Given the description of an element on the screen output the (x, y) to click on. 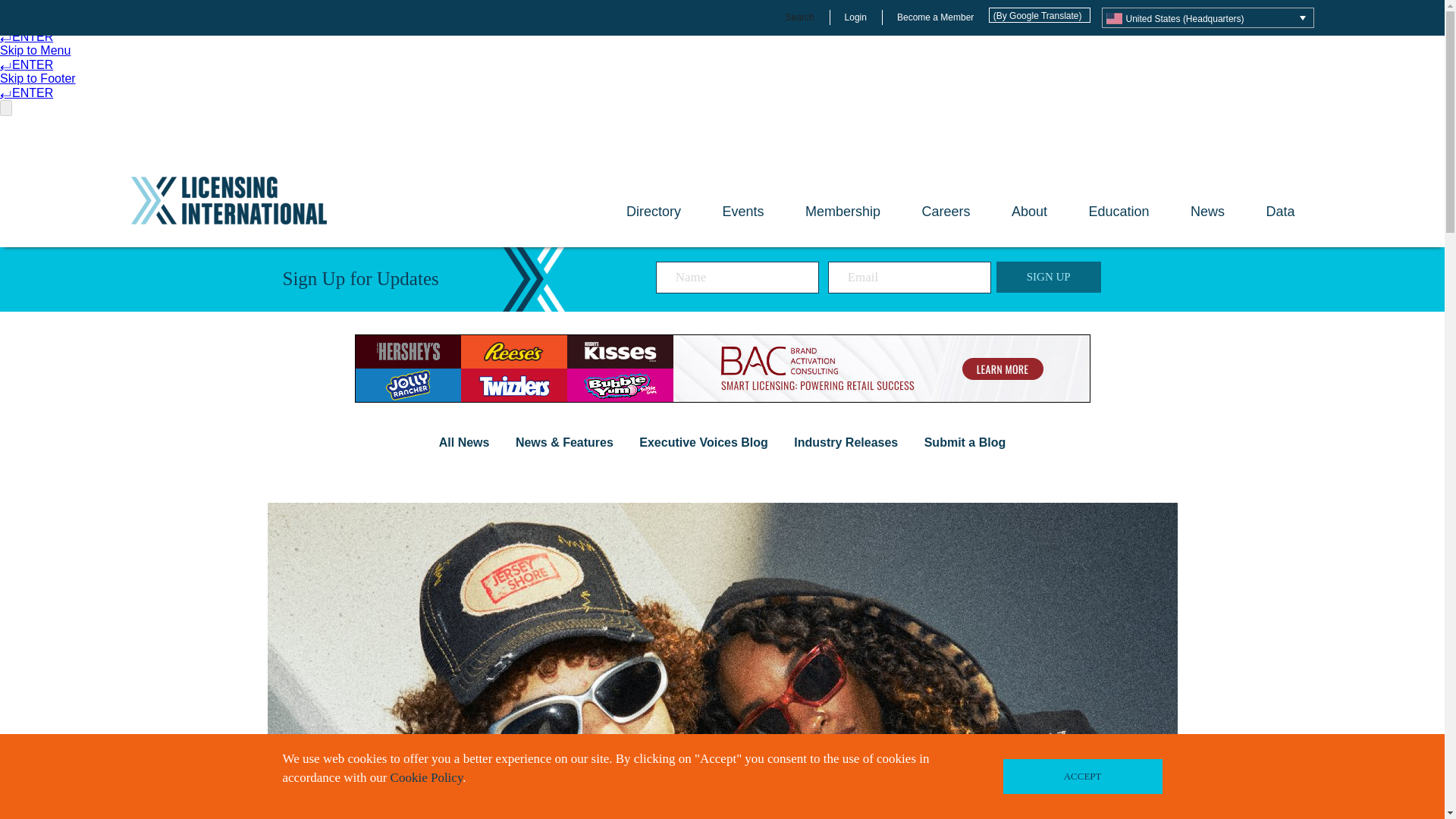
Login (855, 17)
Become a Member (935, 17)
Search (799, 17)
Directory (653, 211)
Events (743, 224)
